Given the description of an element on the screen output the (x, y) to click on. 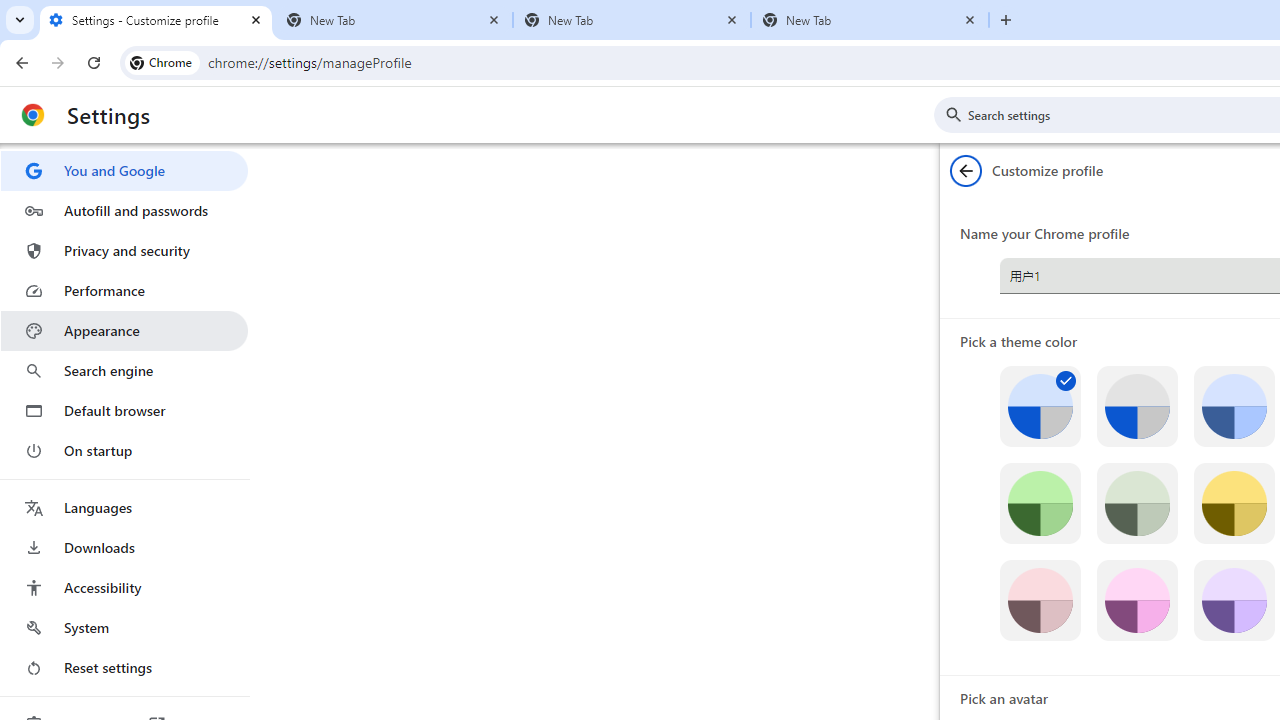
Default browser (124, 410)
New Tab (632, 20)
Search engine (124, 370)
Settings - Customize profile (156, 20)
Accessibility (124, 587)
On startup (124, 450)
